Given the description of an element on the screen output the (x, y) to click on. 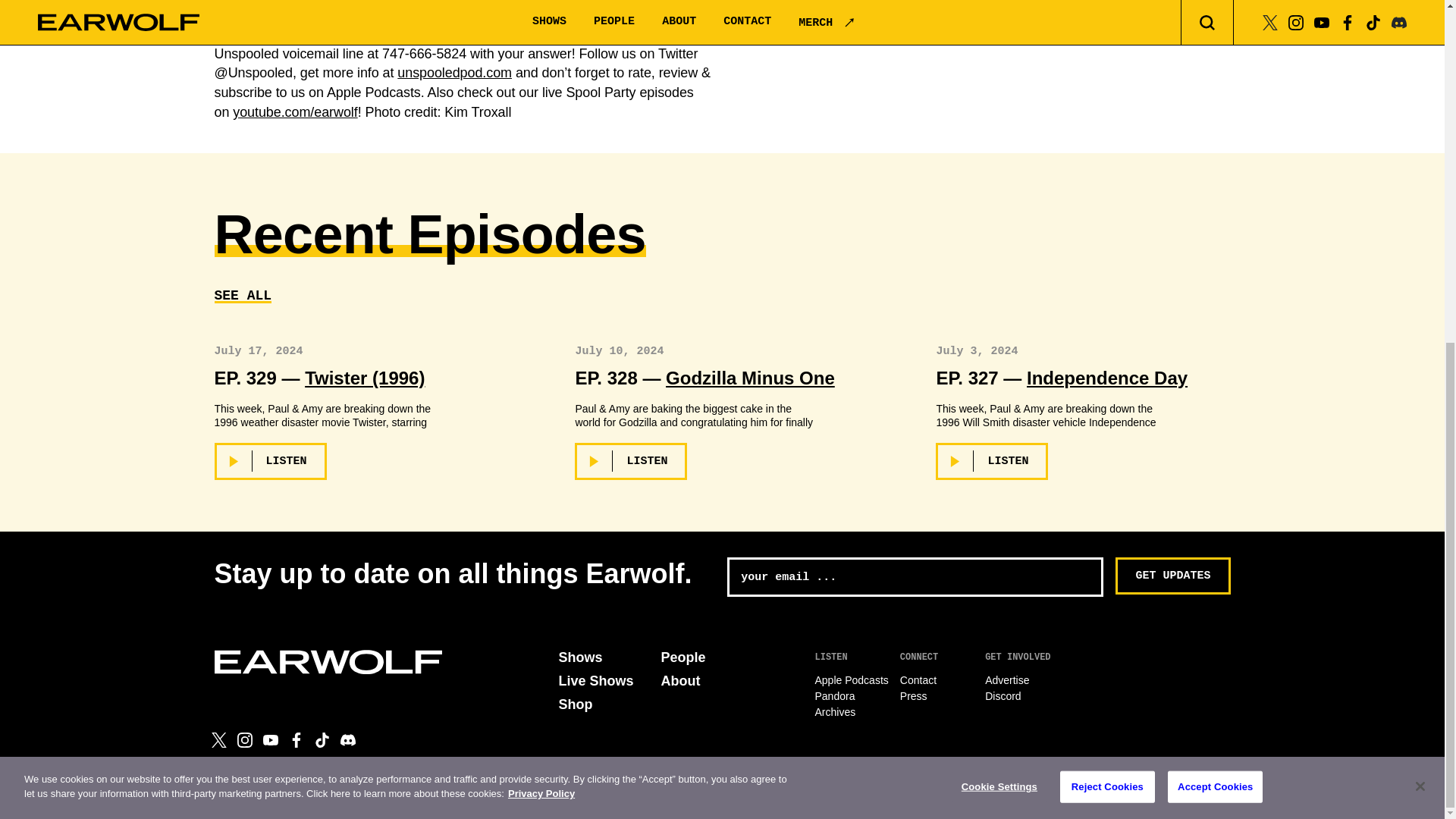
SEE ALL (242, 295)
Get Updates (1172, 575)
Godzilla Minus One (749, 377)
Earwolf (327, 662)
LISTEN (270, 461)
unspooledpod.com (454, 72)
